Given the description of an element on the screen output the (x, y) to click on. 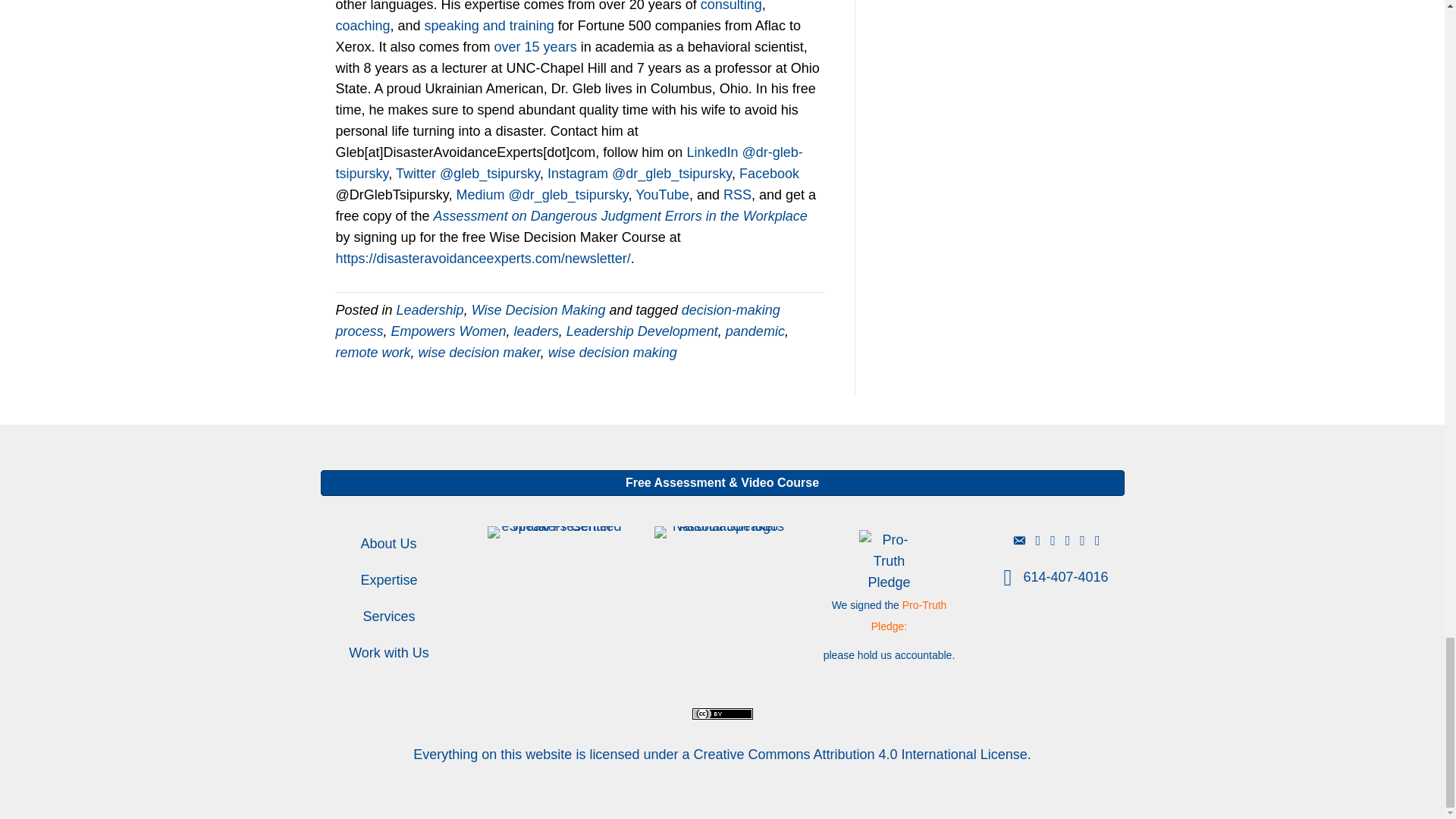
NSA logox2 (721, 532)
